Given the description of an element on the screen output the (x, y) to click on. 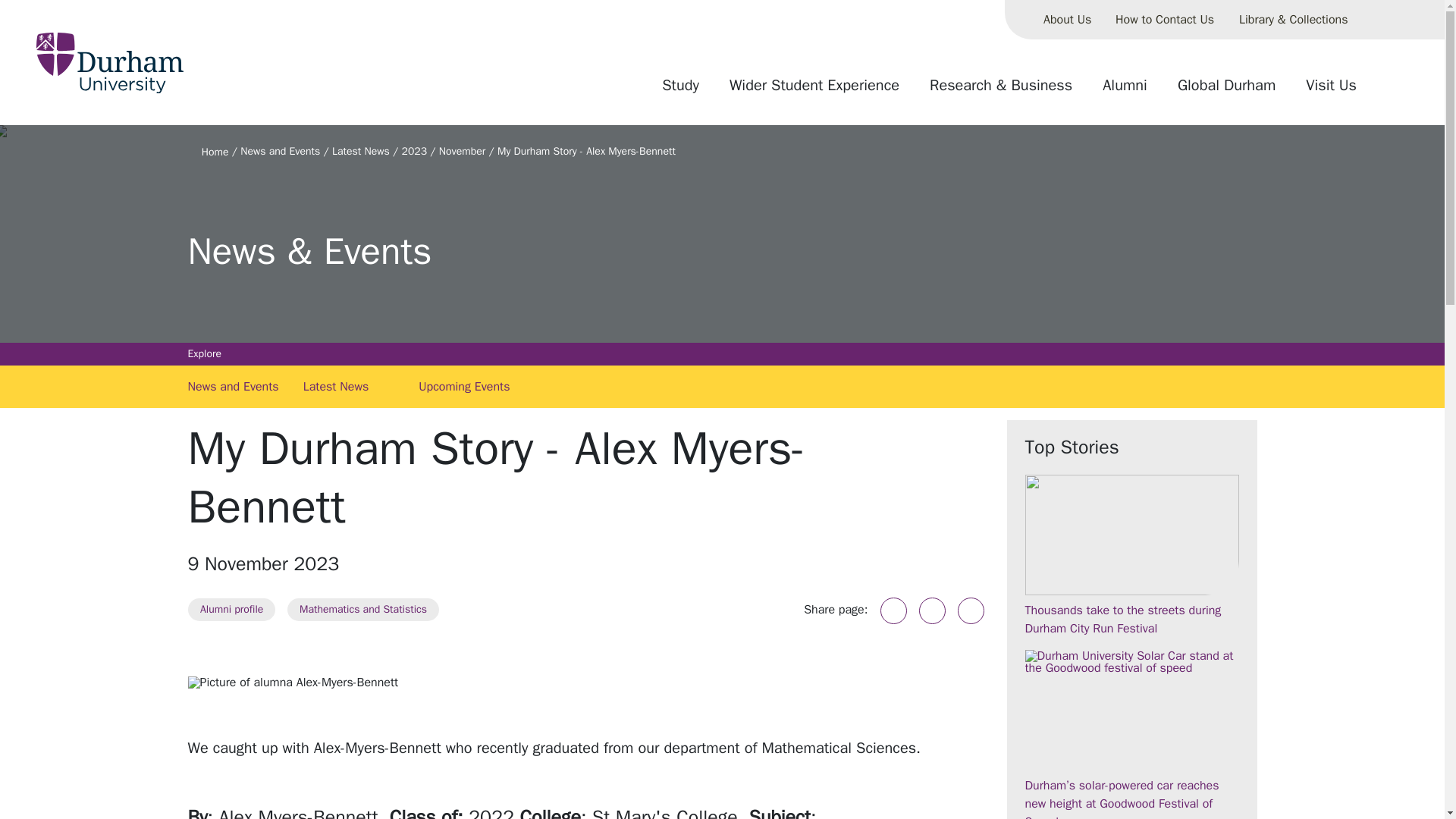
Alumni (1124, 91)
About Us (1066, 19)
Study (680, 91)
Visit Us (1331, 91)
Wider Student Experience (814, 91)
How to Contact Us (1164, 19)
Global Durham (1226, 91)
